Given the description of an element on the screen output the (x, y) to click on. 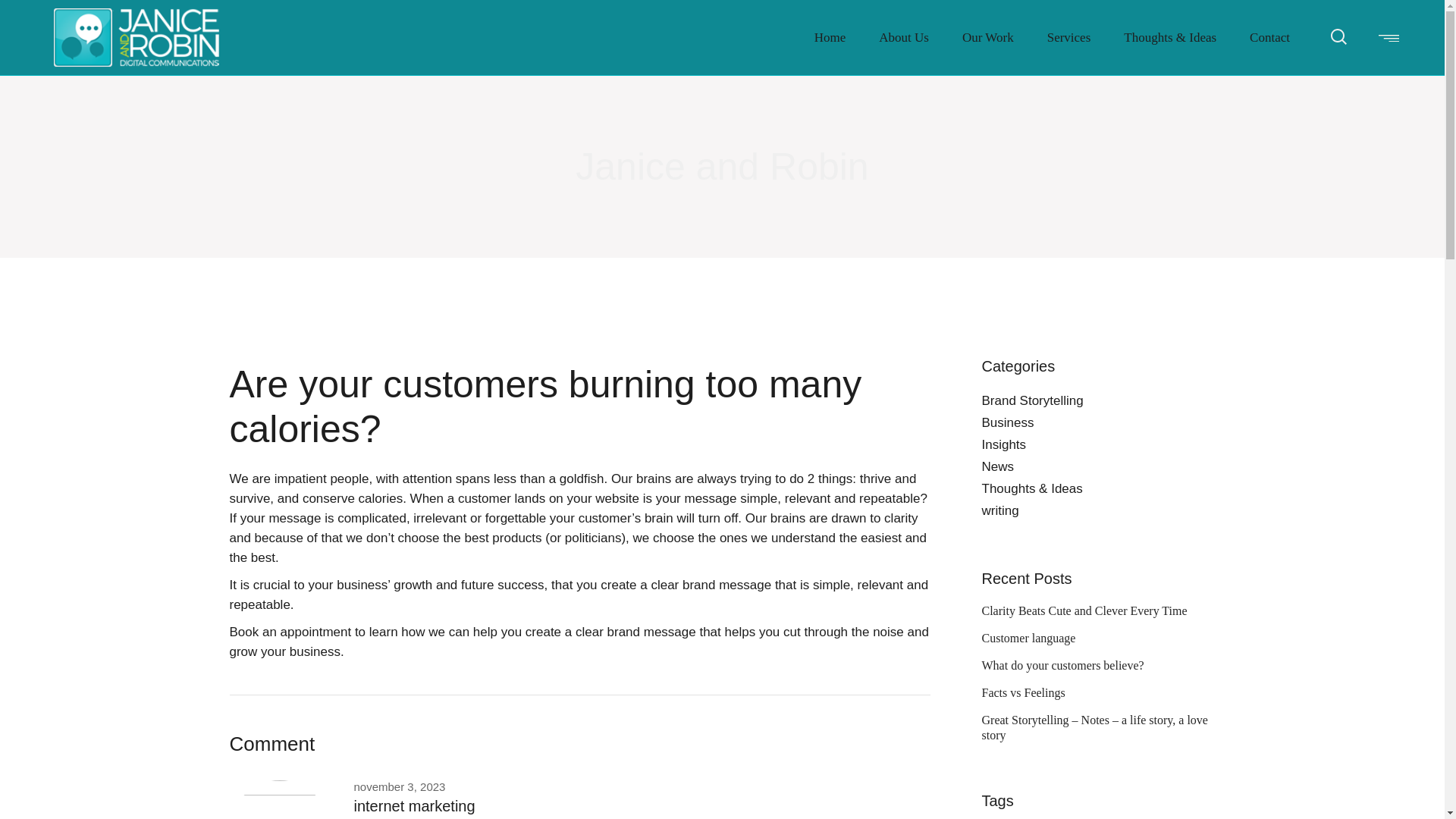
News (997, 466)
Brand Storytelling (1032, 400)
Business (1007, 422)
internet marketing (413, 805)
november 3, 2023 (399, 786)
Insights (1003, 444)
Book an appointment (289, 631)
